Given the description of an element on the screen output the (x, y) to click on. 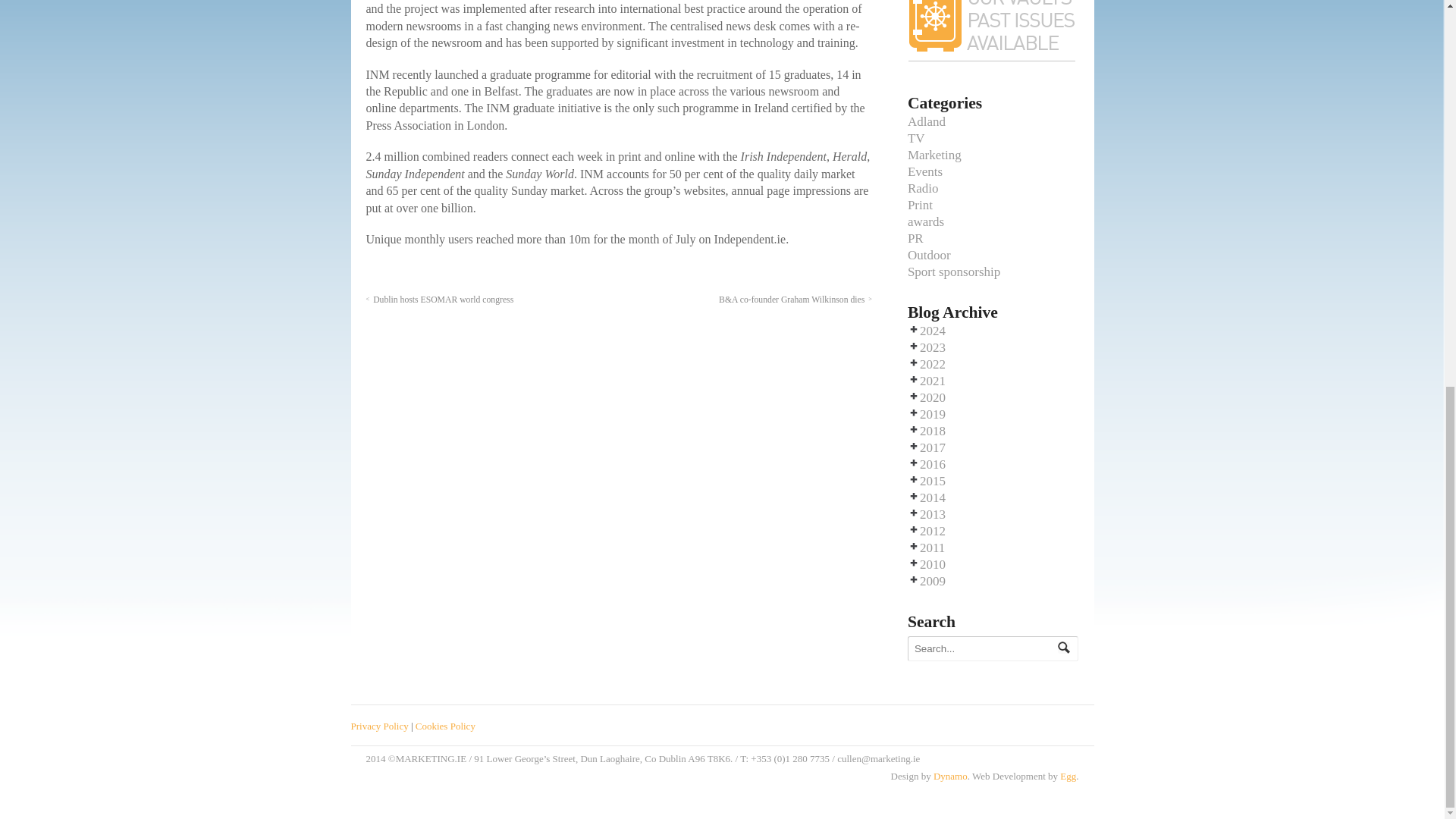
Events (924, 171)
PR (915, 237)
Marketing (933, 155)
Dublin hosts ESOMAR world congress (439, 299)
Print (920, 205)
awards (925, 221)
TV (915, 138)
Search... (986, 648)
Adland (925, 121)
Radio (923, 187)
